Given the description of an element on the screen output the (x, y) to click on. 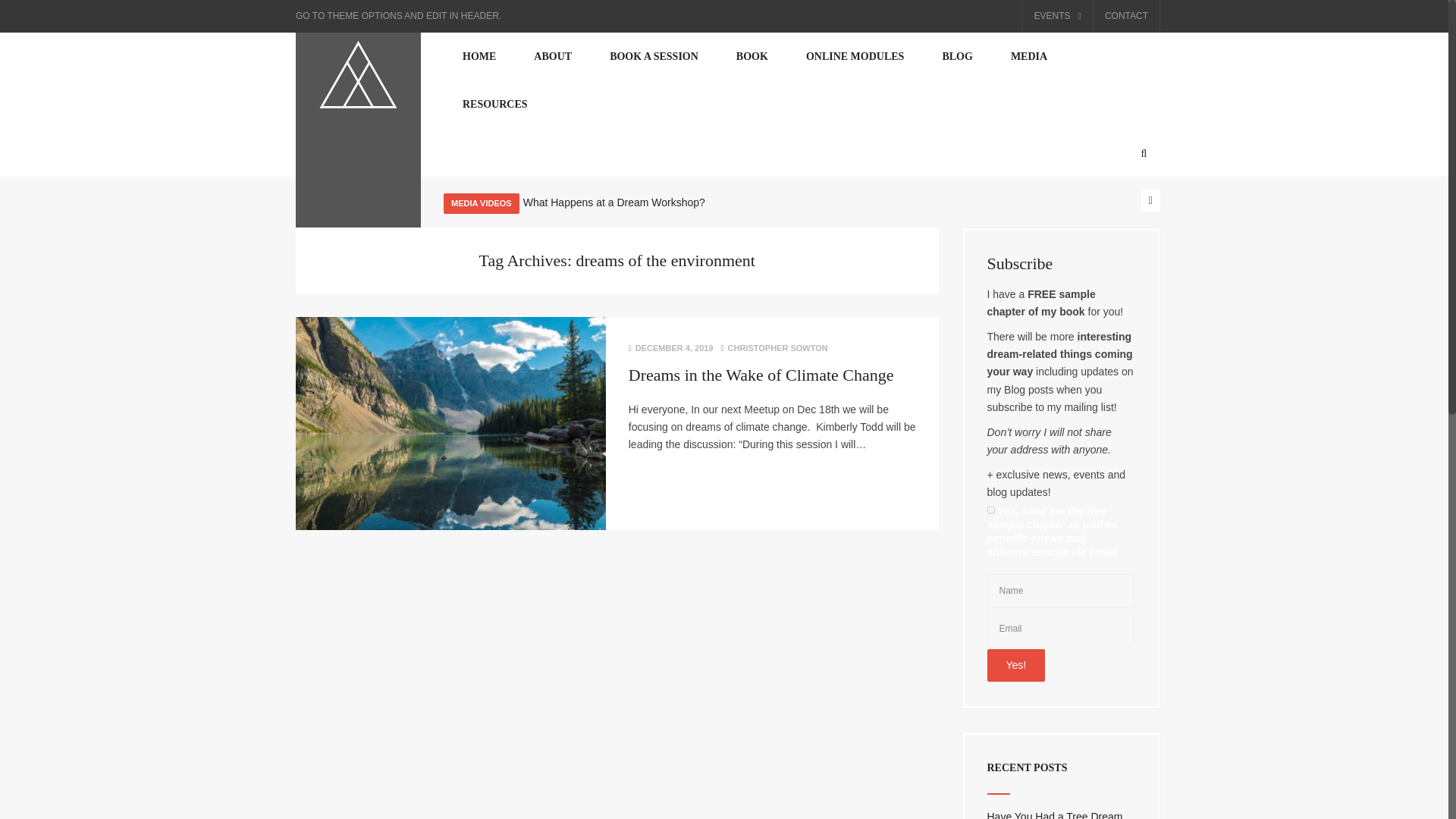
Yes! (1016, 665)
BOOK (752, 56)
Christopher Sowton (357, 74)
ABOUT (553, 56)
EVENTS (1057, 16)
BOOK A SESSION (654, 56)
CONTACT (1126, 16)
HOME (479, 56)
asg (1028, 56)
